Given the description of an element on the screen output the (x, y) to click on. 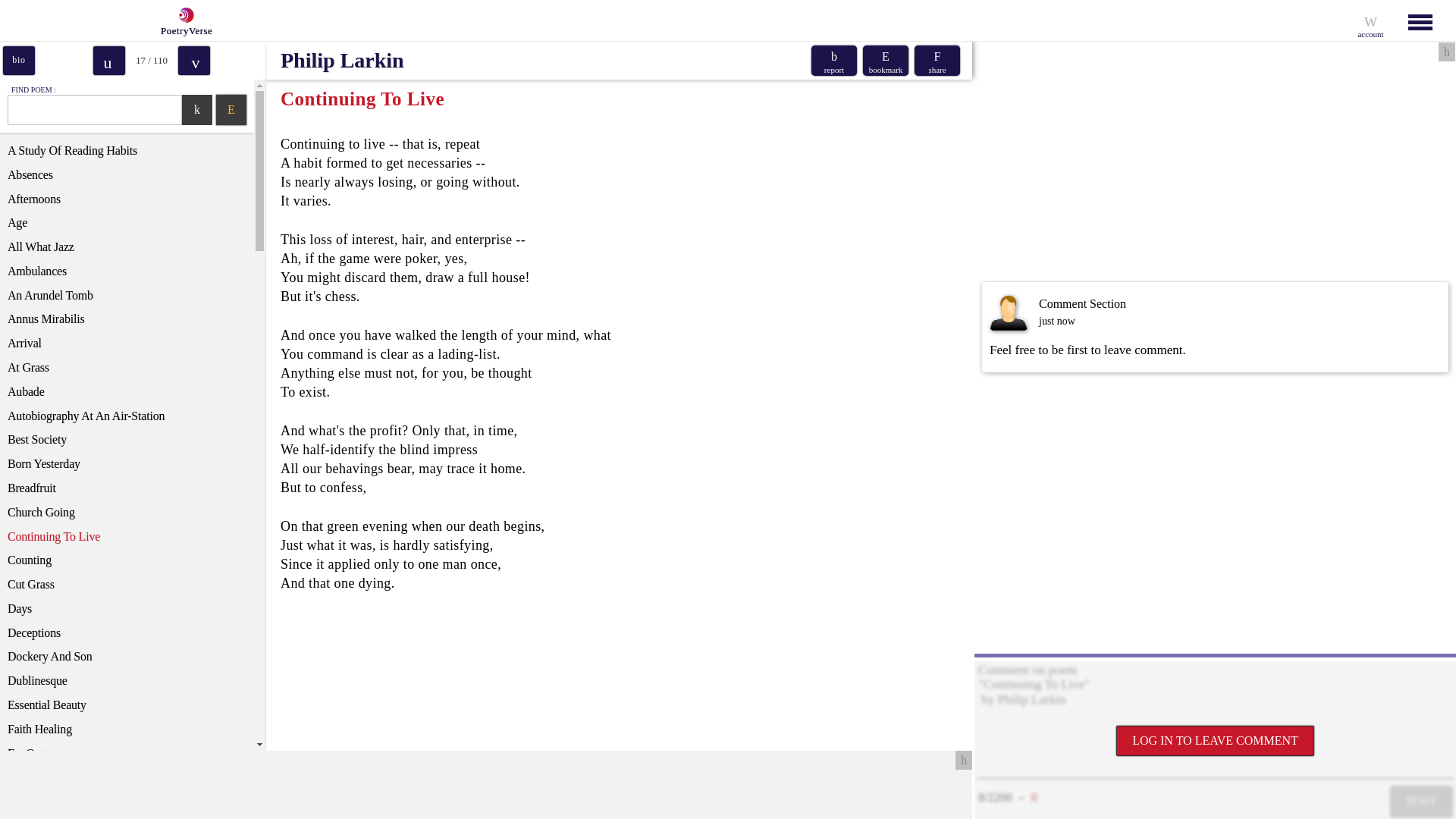
user widget button (1370, 20)
PoetryVerse (182, 20)
Poetry Verse Logo (183, 15)
